Given the description of an element on the screen output the (x, y) to click on. 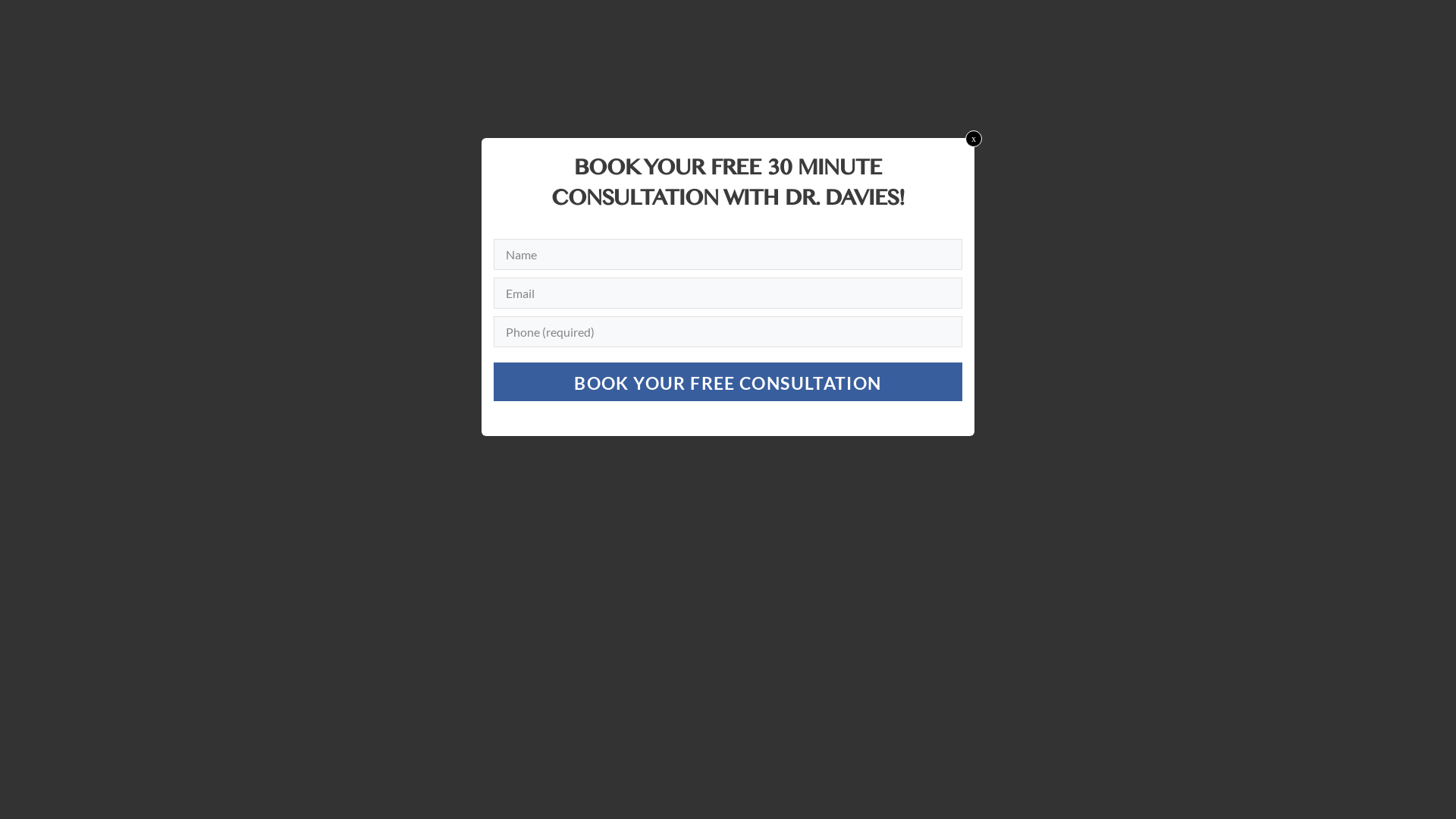
BOOK YOUR FREE CONSULTATION Element type: text (727, 381)
x Element type: text (973, 138)
